Given the description of an element on the screen output the (x, y) to click on. 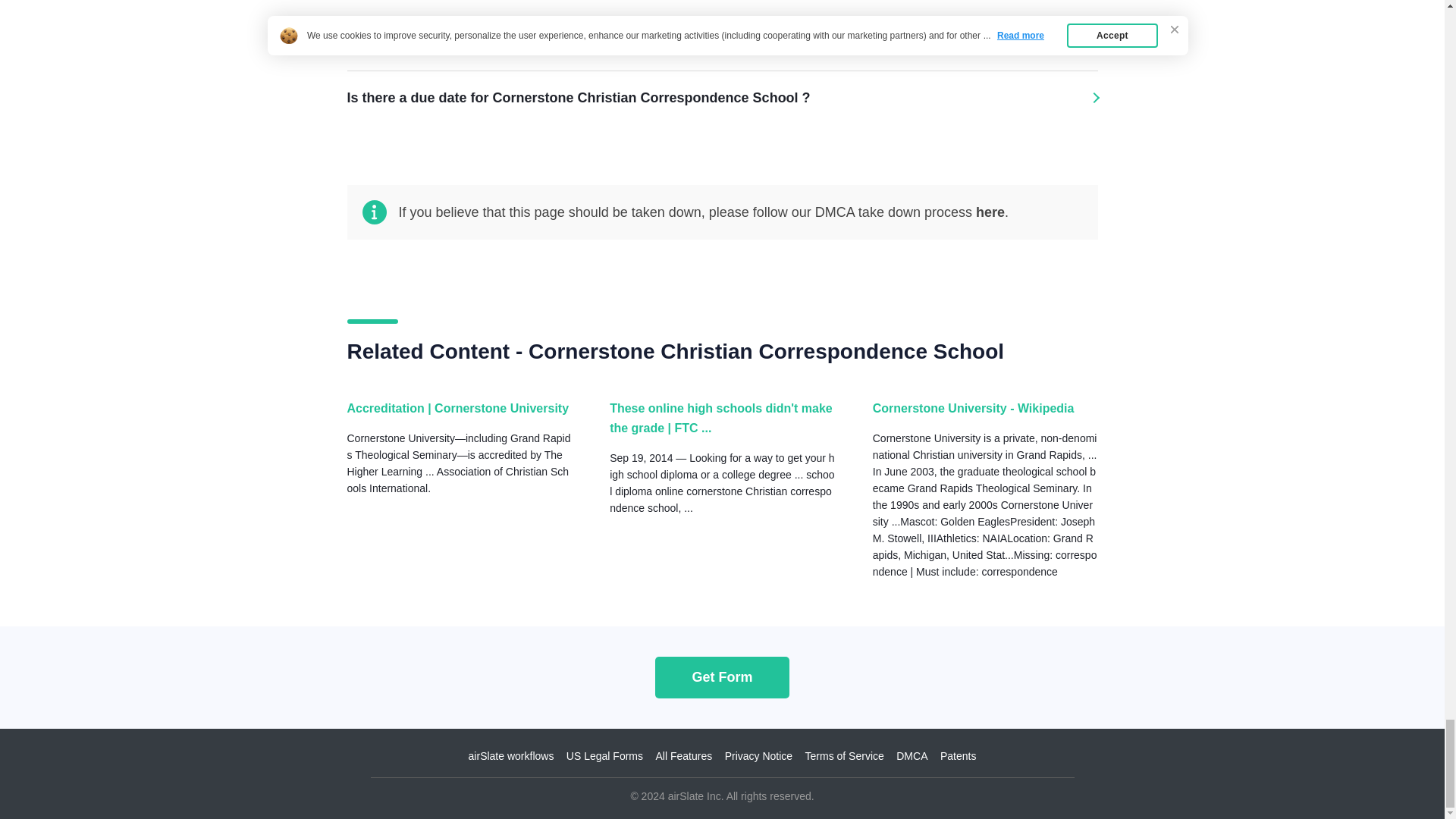
Terms of Service (844, 756)
All Features (683, 756)
US Legal Forms (604, 756)
Patents (957, 756)
DMCA (911, 756)
Privacy Notice (758, 756)
Get Form (722, 676)
airSlate workflows (511, 756)
here (989, 212)
